Given the description of an element on the screen output the (x, y) to click on. 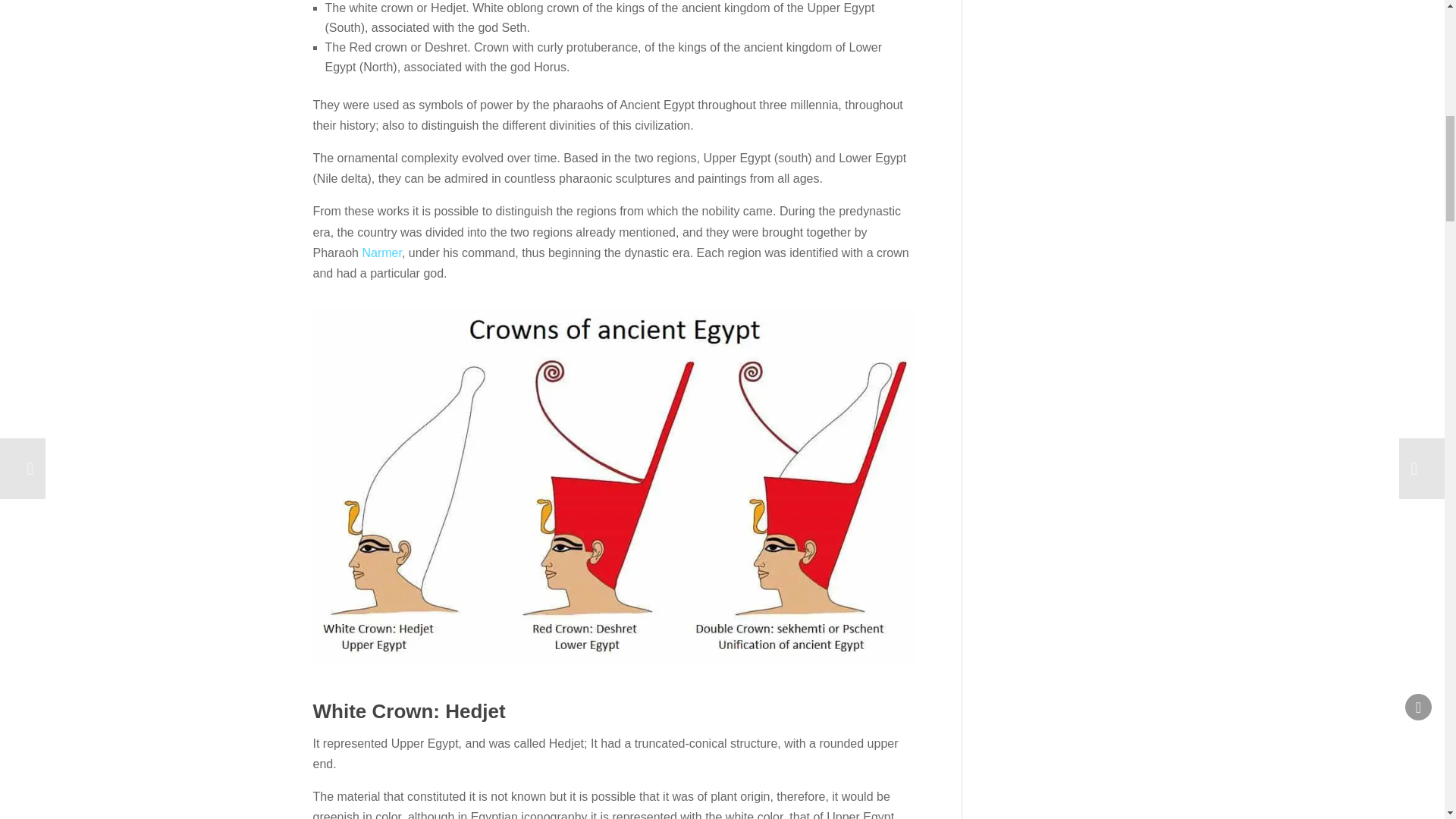
Narmer (381, 252)
